Given the description of an element on the screen output the (x, y) to click on. 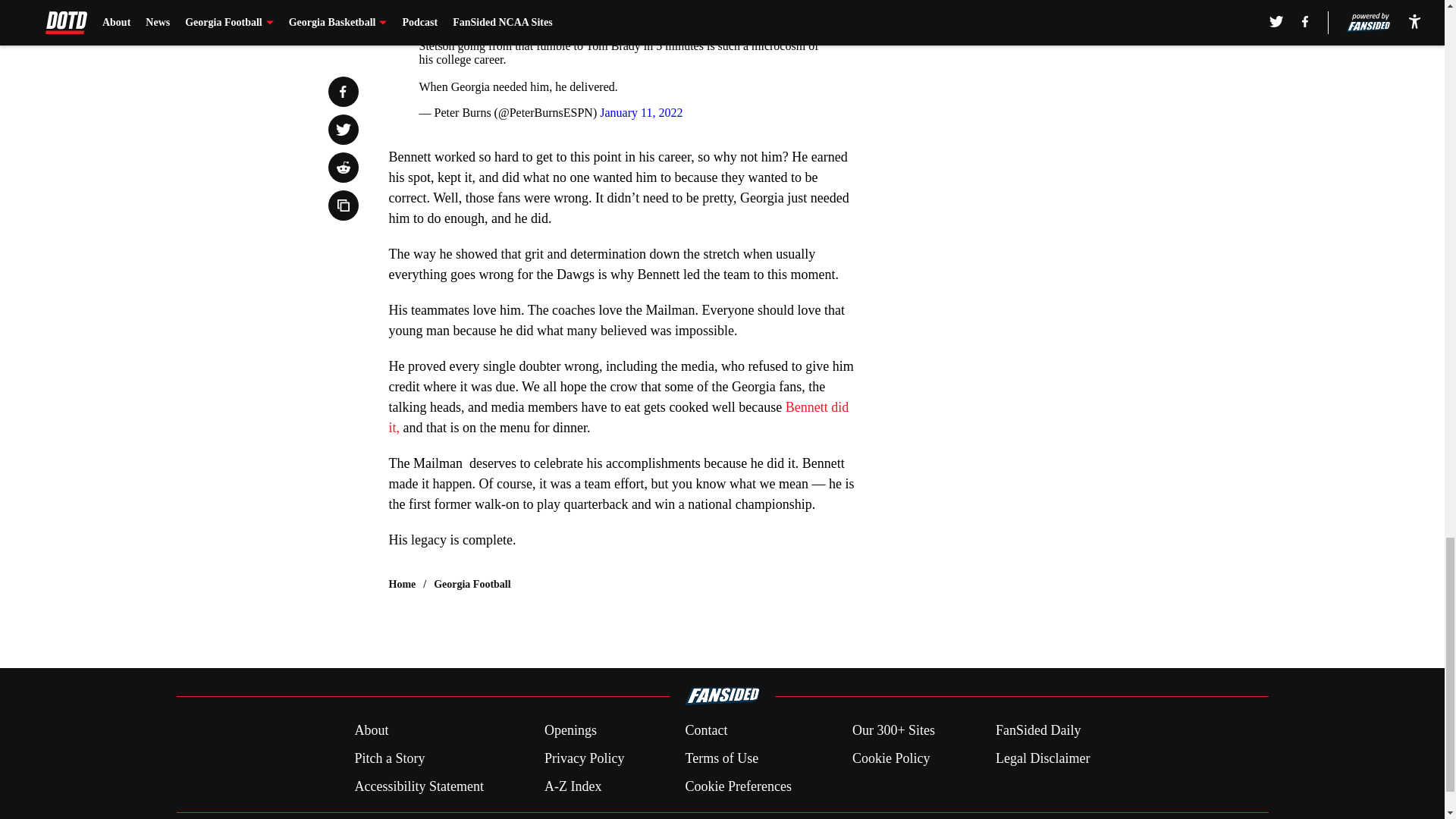
Georgia Football (472, 584)
Privacy Policy (584, 758)
Home (401, 584)
FanSided Daily (1038, 730)
Accessibility Statement (418, 786)
Bennett did it, (618, 416)
About (370, 730)
Legal Disclaimer (1042, 758)
Terms of Use (721, 758)
Openings (570, 730)
